Given the description of an element on the screen output the (x, y) to click on. 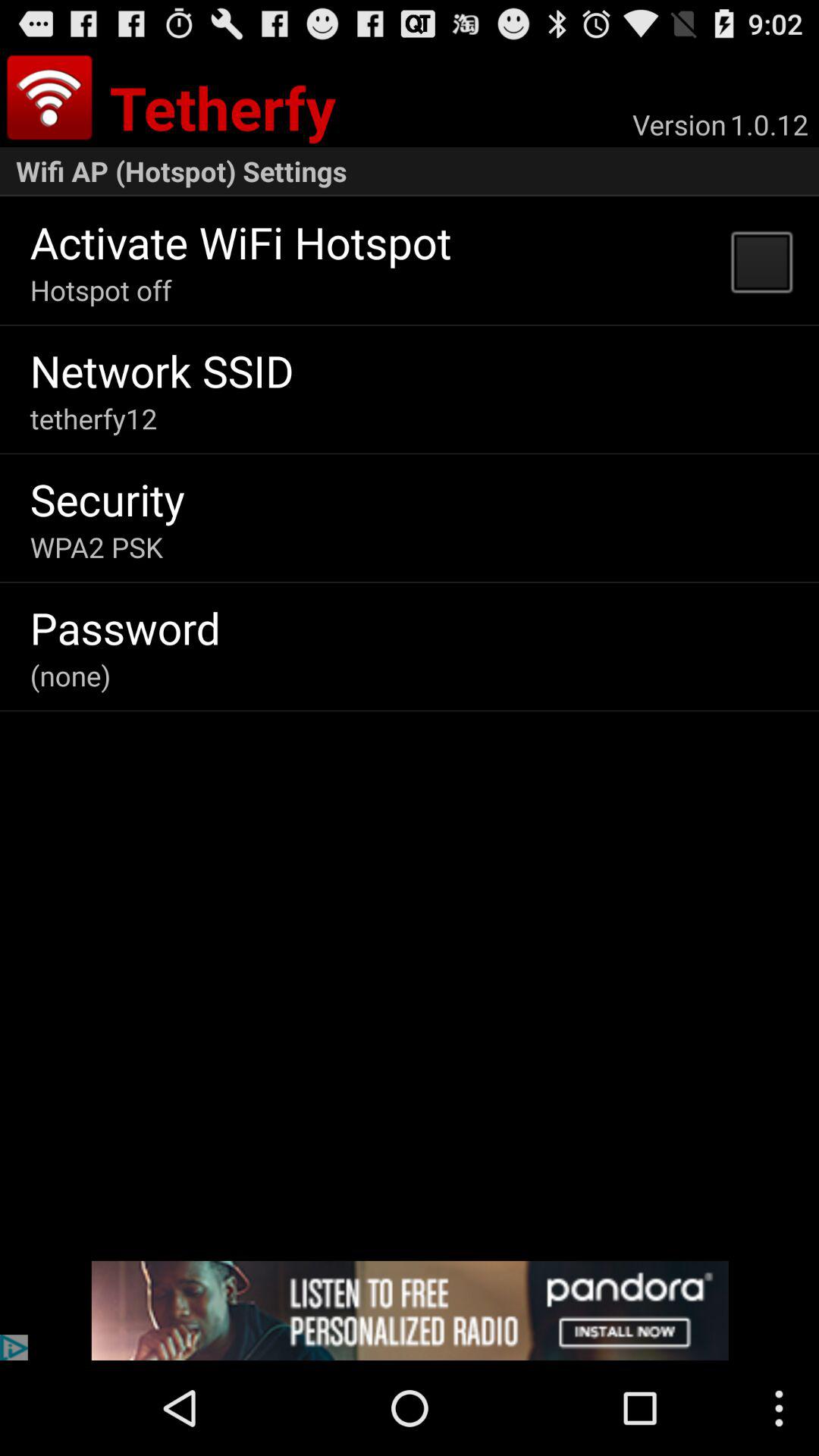
choose app below wifi ap hotspot (761, 260)
